Given the description of an element on the screen output the (x, y) to click on. 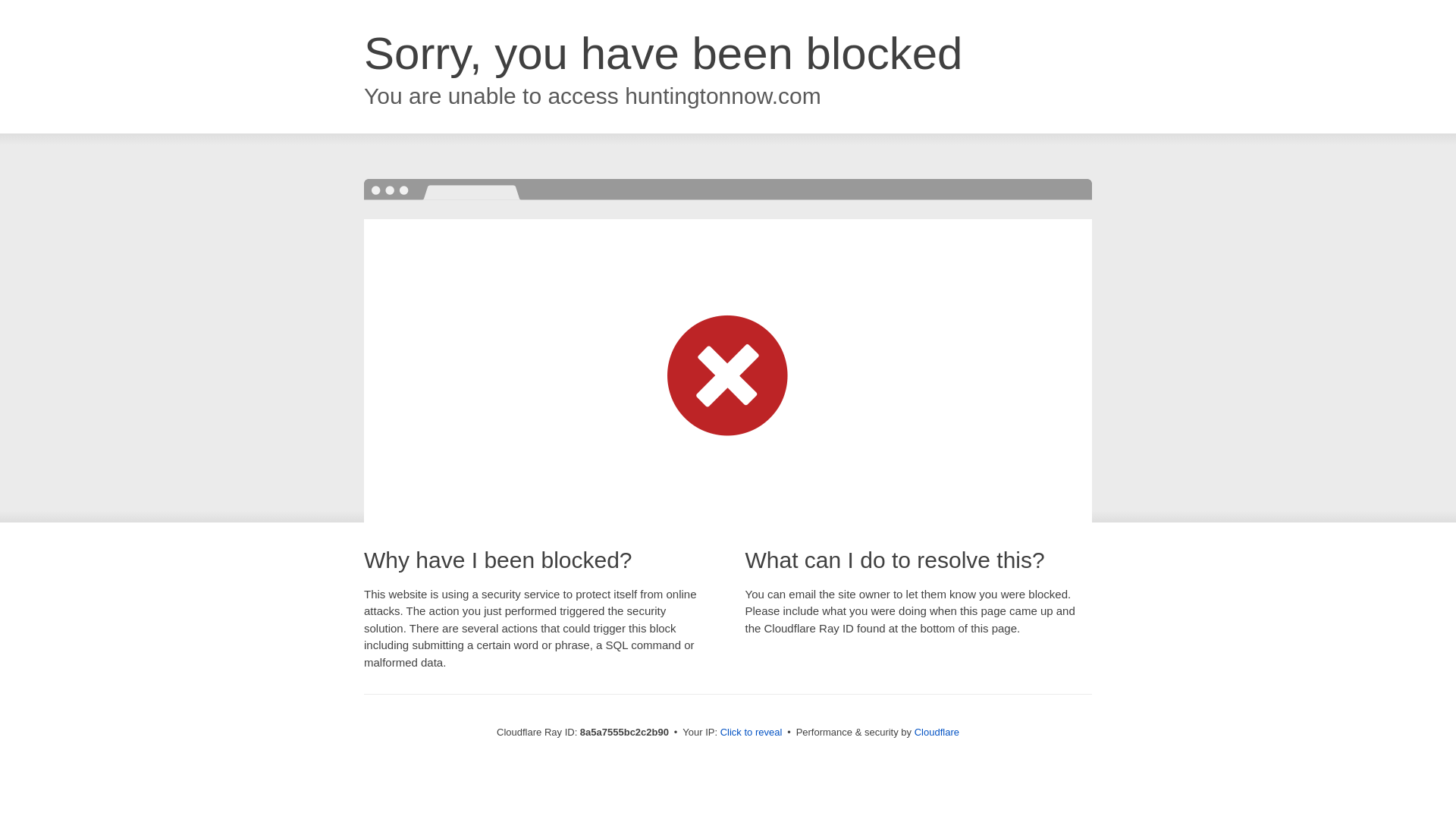
Click to reveal (751, 732)
Cloudflare (936, 731)
